Given the description of an element on the screen output the (x, y) to click on. 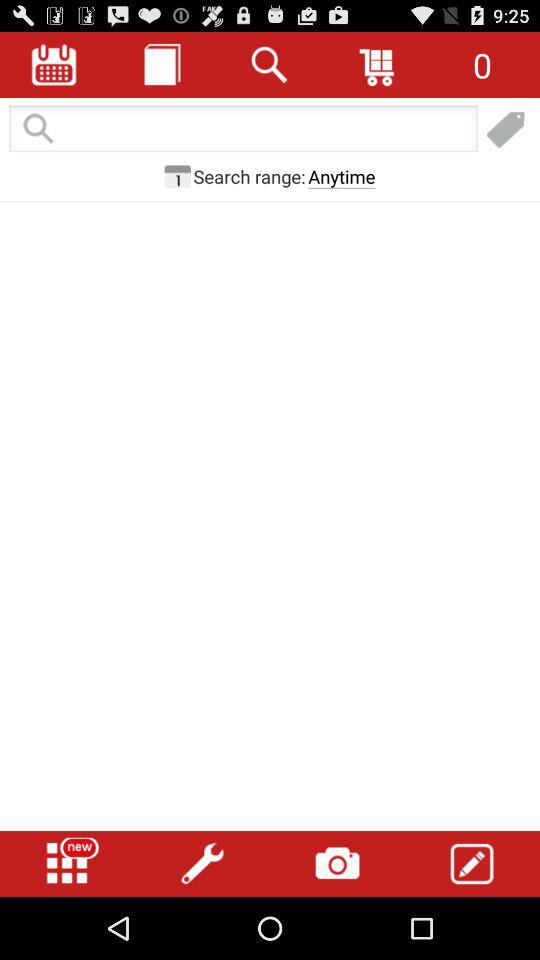
tap the icon to the right of search range: icon (341, 175)
